Given the description of an element on the screen output the (x, y) to click on. 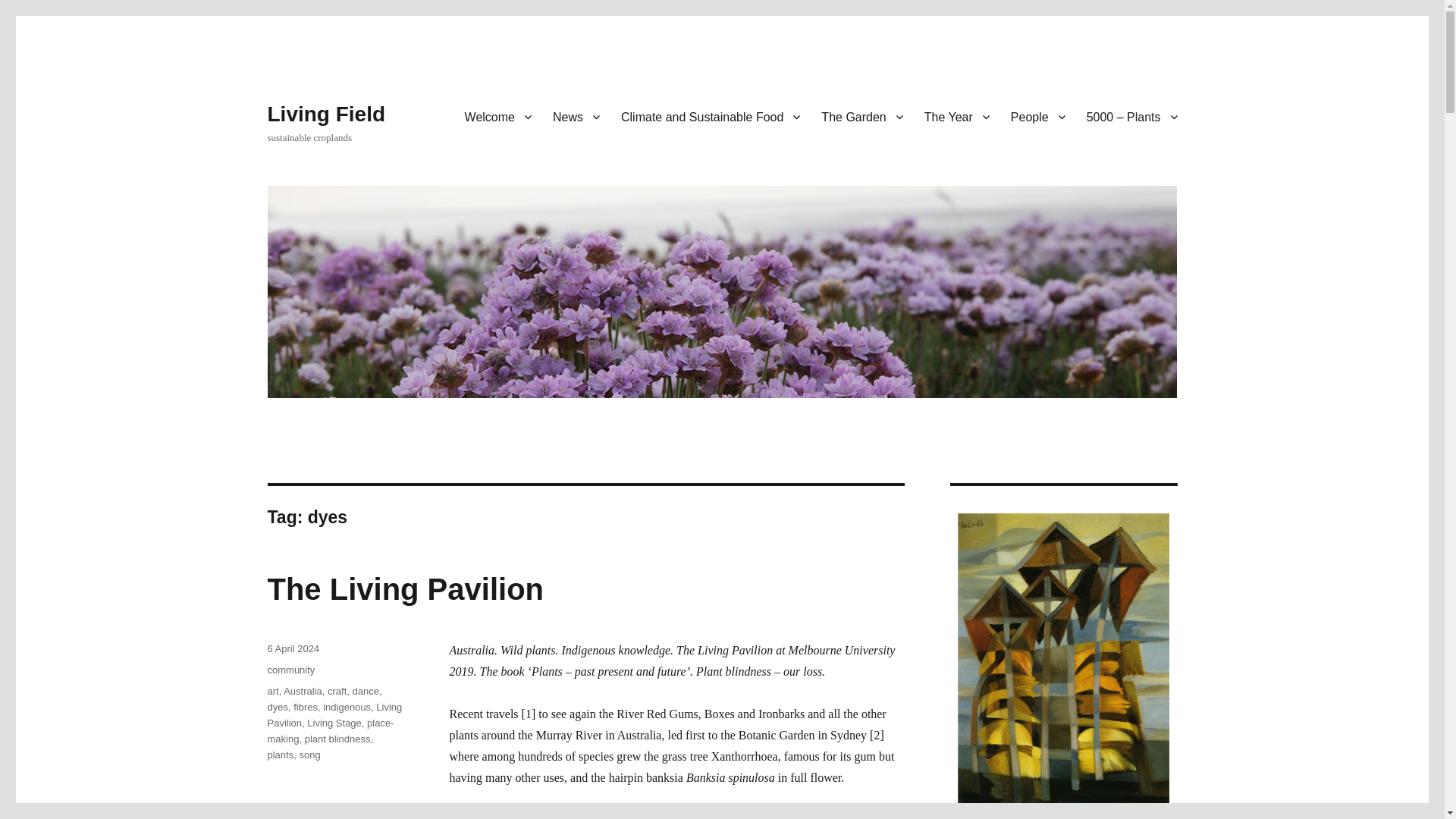
The Garden (861, 116)
The Year (957, 116)
Climate and Sustainable Food (710, 116)
Welcome (497, 116)
News (575, 116)
Living Field (325, 114)
